Given the description of an element on the screen output the (x, y) to click on. 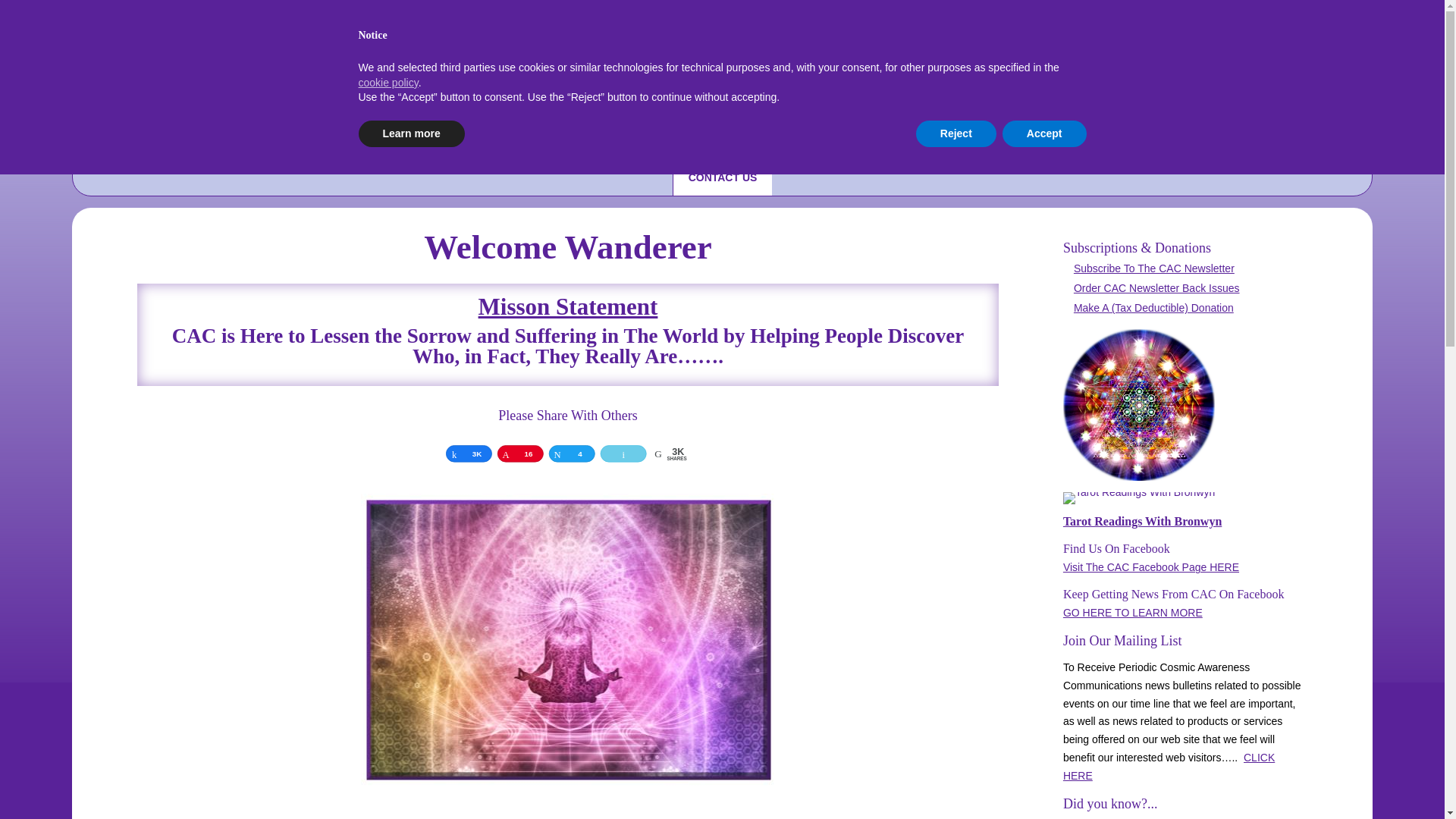
Tarot Readings With Bronwyn (1141, 521)
SHOP (958, 140)
NEWSLETTER (872, 140)
CONTACT US (722, 176)
HISTORY (489, 140)
GO HERE TO LEARN MORE (1132, 612)
Tarot Readings With Bronwyn (1138, 498)
TOPICS OF REVELATIONS (611, 140)
CLICK HERE (1168, 766)
